Given the description of an element on the screen output the (x, y) to click on. 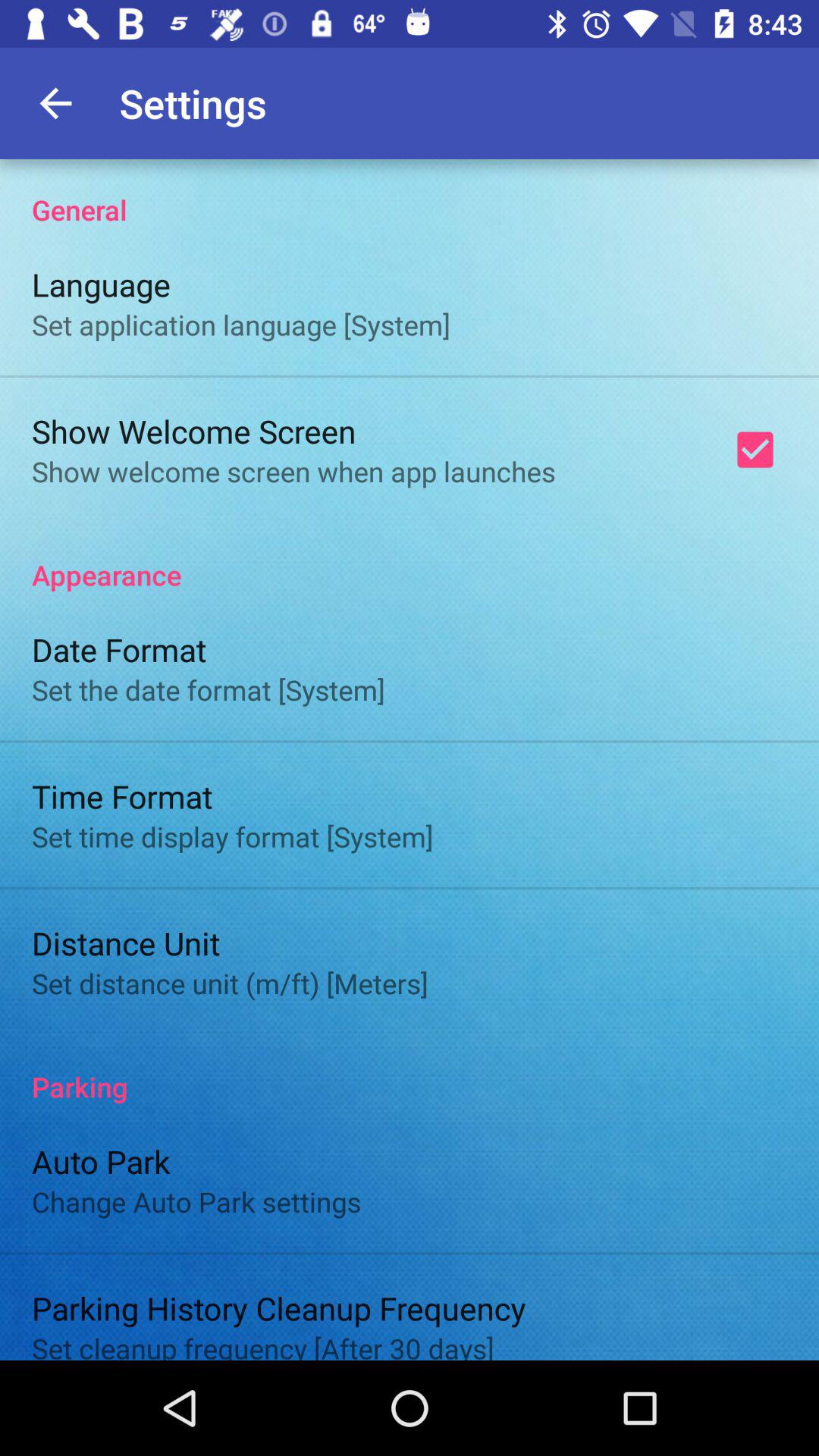
tap parking history cleanup (278, 1307)
